Given the description of an element on the screen output the (x, y) to click on. 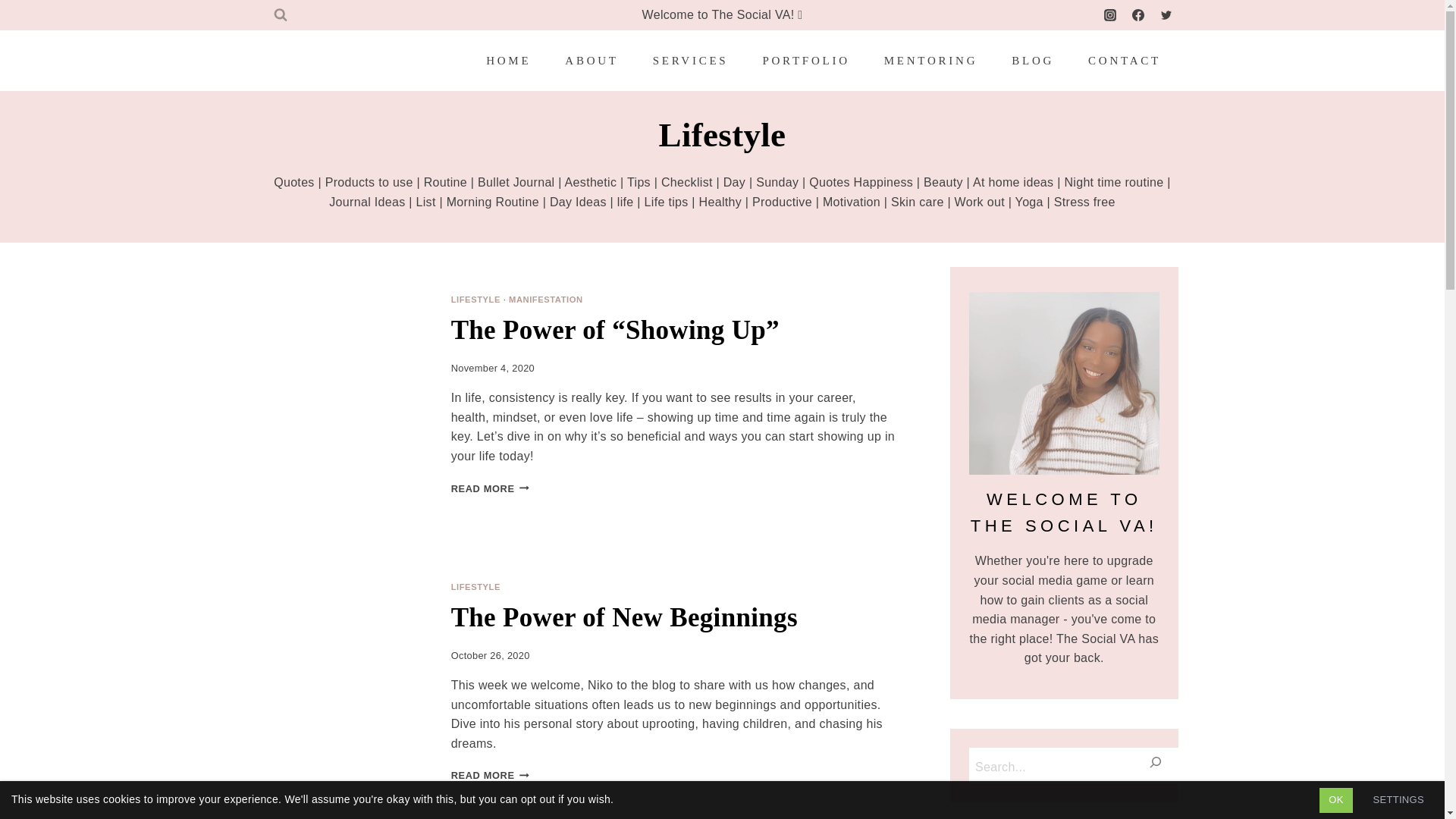
MANIFESTATION (545, 298)
PORTFOLIO (805, 60)
ABOUT (591, 60)
MENTORING (930, 60)
CONTACT (1124, 60)
HOME (508, 60)
SERVICES (689, 60)
BLOG (1032, 60)
LIFESTYLE (475, 298)
LIFESTYLE (490, 775)
The Power of New Beginnings (475, 586)
